Given the description of an element on the screen output the (x, y) to click on. 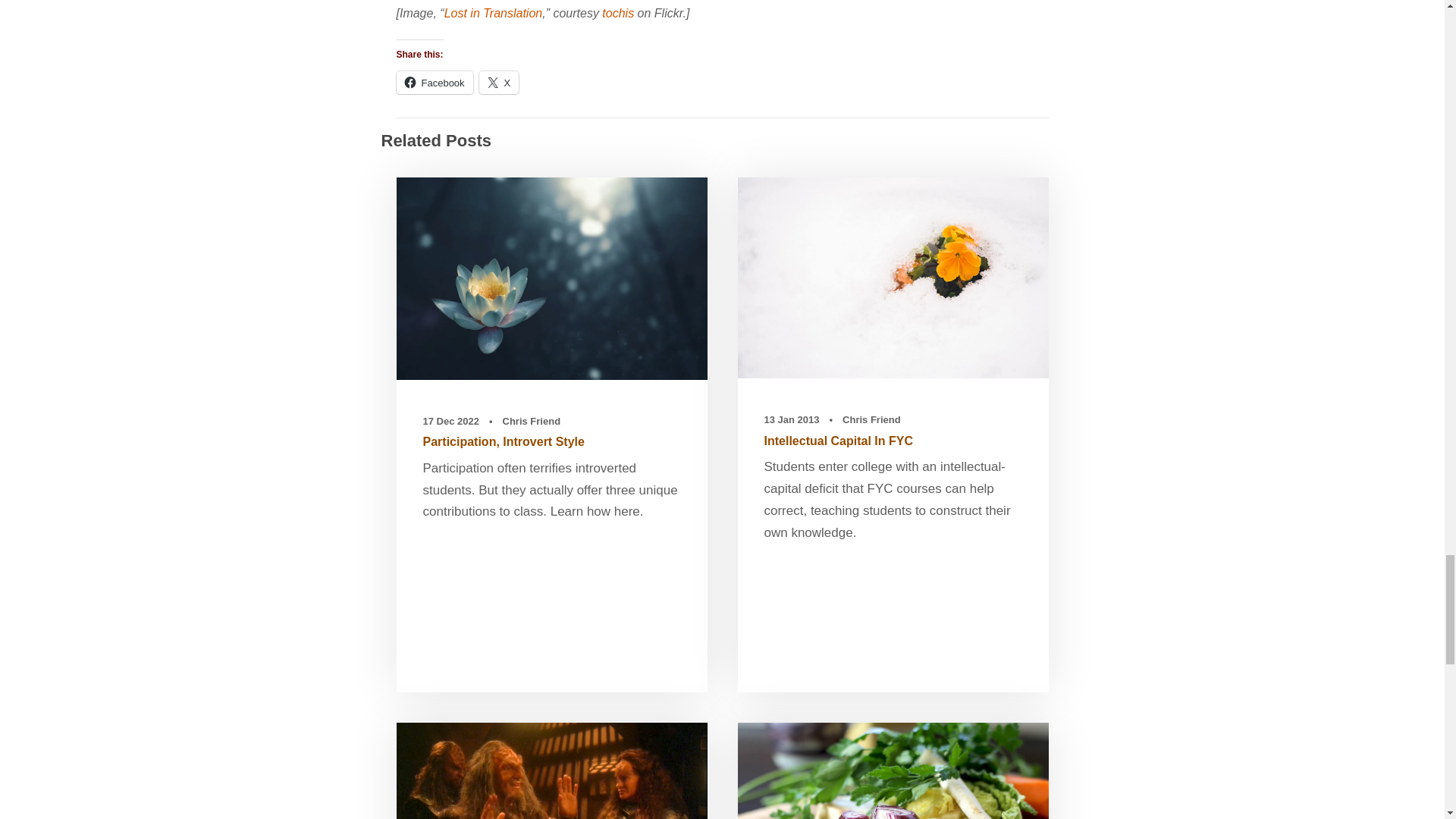
Lost in Translation (493, 11)
tochis (617, 11)
Participation, Introvert Style (504, 440)
Click to share on X (499, 82)
Chris Friend (531, 420)
Posts by Chris Friend (872, 419)
Intellectual Capital In FYC (838, 440)
Posts by Chris Friend (531, 420)
Click to share on Facebook (433, 82)
Chris Friend (872, 419)
Facebook (433, 82)
X (499, 82)
